Given the description of an element on the screen output the (x, y) to click on. 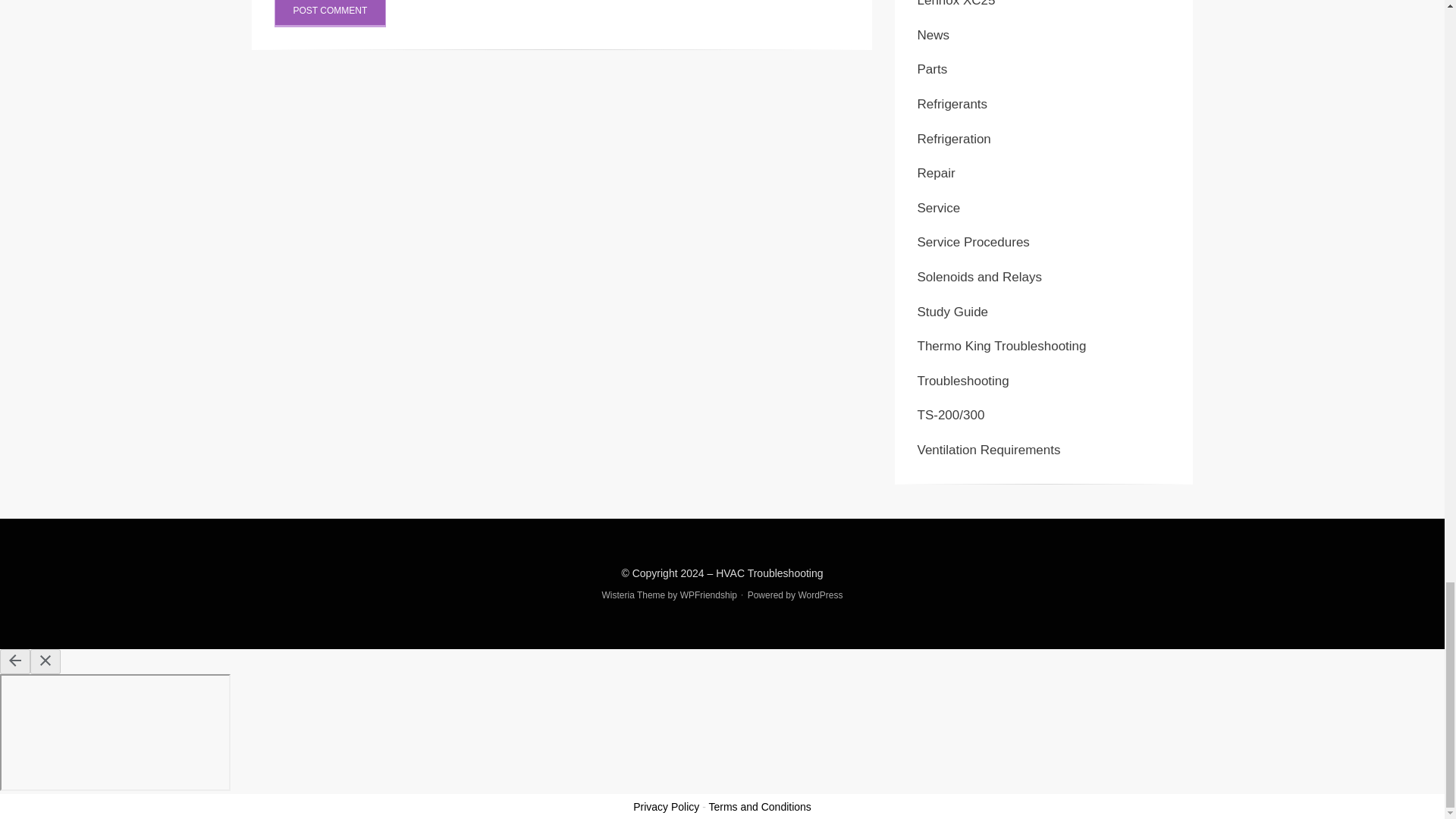
Post Comment (331, 13)
News (933, 34)
WPFriendship (707, 594)
WordPress (820, 594)
Lennox XC25 (956, 3)
Post Comment (331, 13)
